Given the description of an element on the screen output the (x, y) to click on. 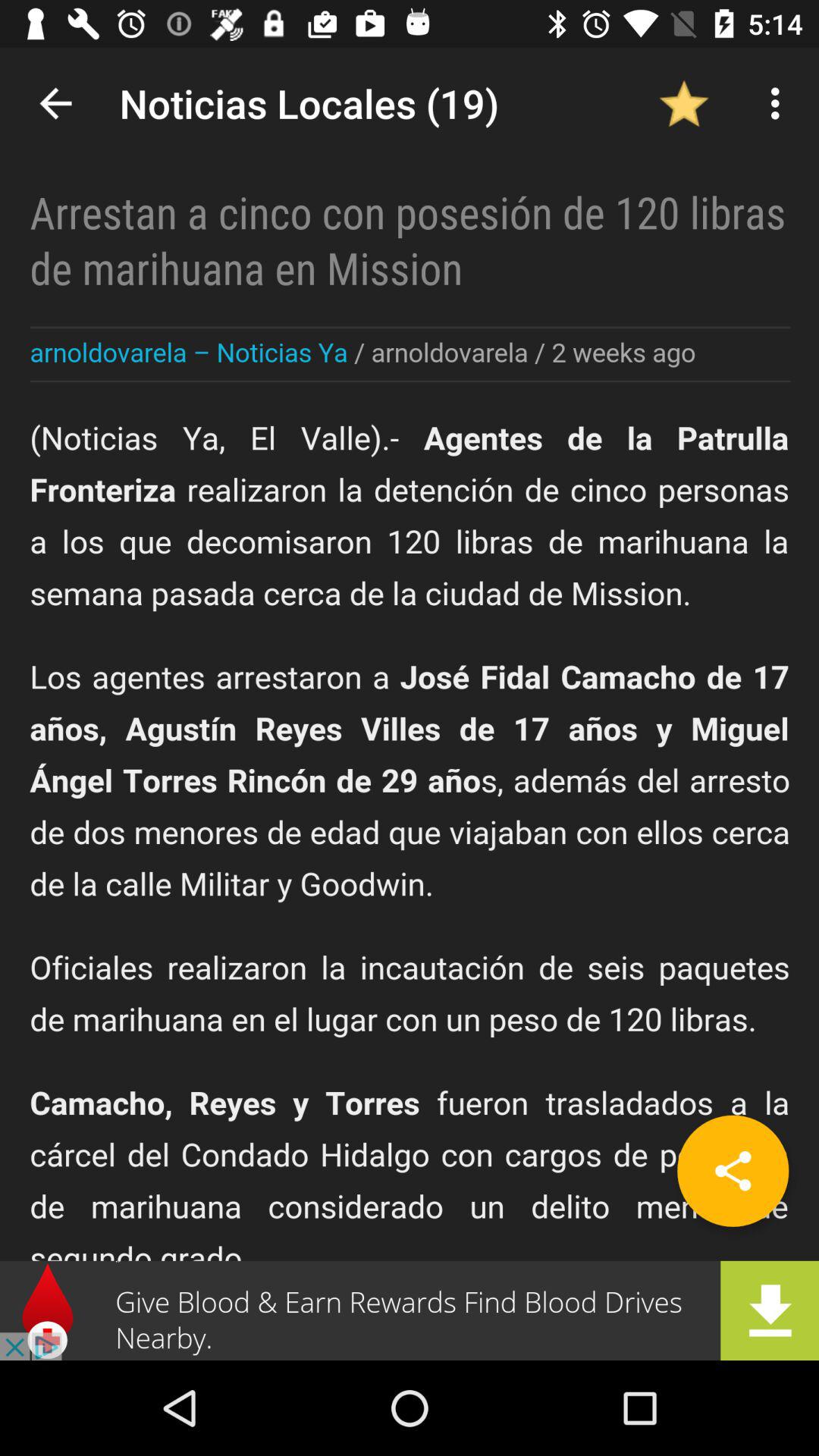
advertisement banner (409, 1310)
